Given the description of an element on the screen output the (x, y) to click on. 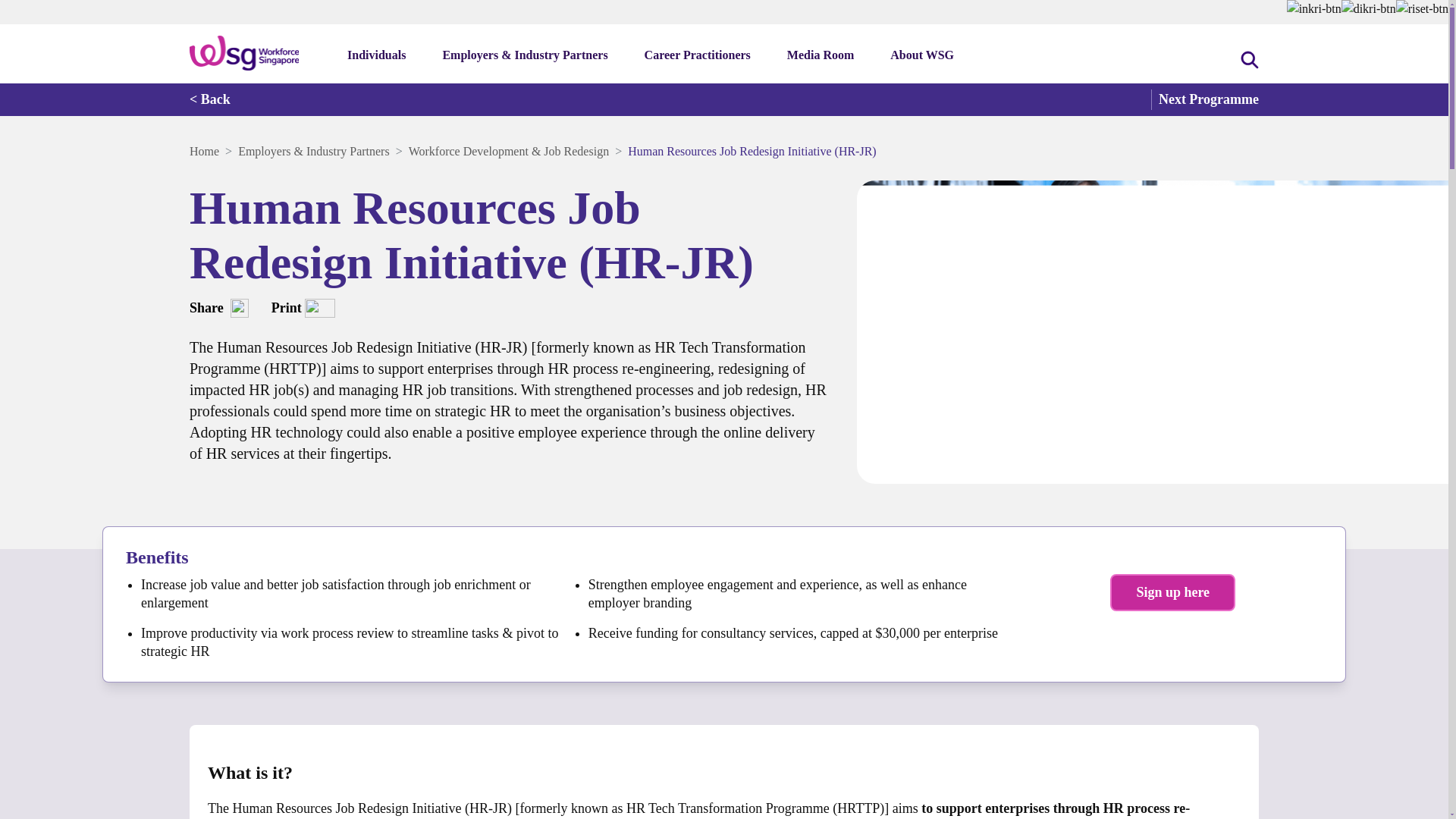
Next Programme (1205, 99)
Individuals (379, 59)
Media Room (823, 59)
Print (302, 307)
About WSG (924, 59)
Home (204, 151)
Career Practitioners (701, 59)
